Given the description of an element on the screen output the (x, y) to click on. 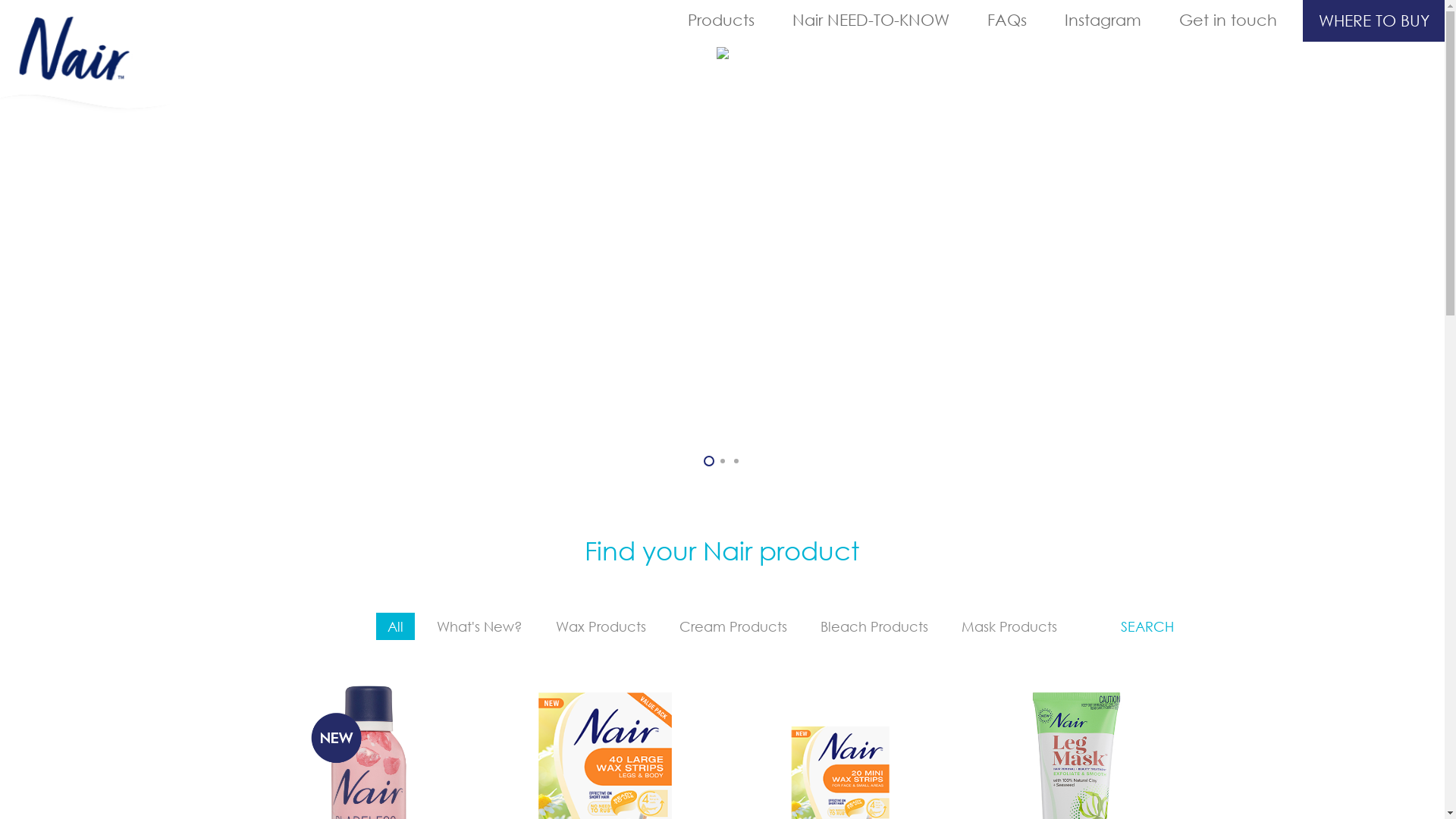
3 Element type: text (736, 460)
Products Element type: text (720, 20)
Nair NEED-TO-KNOW Element type: text (870, 20)
Wax Products Element type: text (600, 626)
Cream Products Element type: text (733, 626)
1 Element type: text (708, 460)
WHERE TO BUY Element type: text (1373, 20)
All Element type: text (395, 626)
Instagram Element type: text (1102, 20)
Get in touch Element type: text (1227, 20)
Bleach Products Element type: text (874, 626)
What's New? Element type: text (479, 626)
Mask Products Element type: text (1009, 626)
FAQs Element type: text (1006, 20)
SEARCH Element type: text (1146, 626)
2 Element type: text (722, 460)
